Given the description of an element on the screen output the (x, y) to click on. 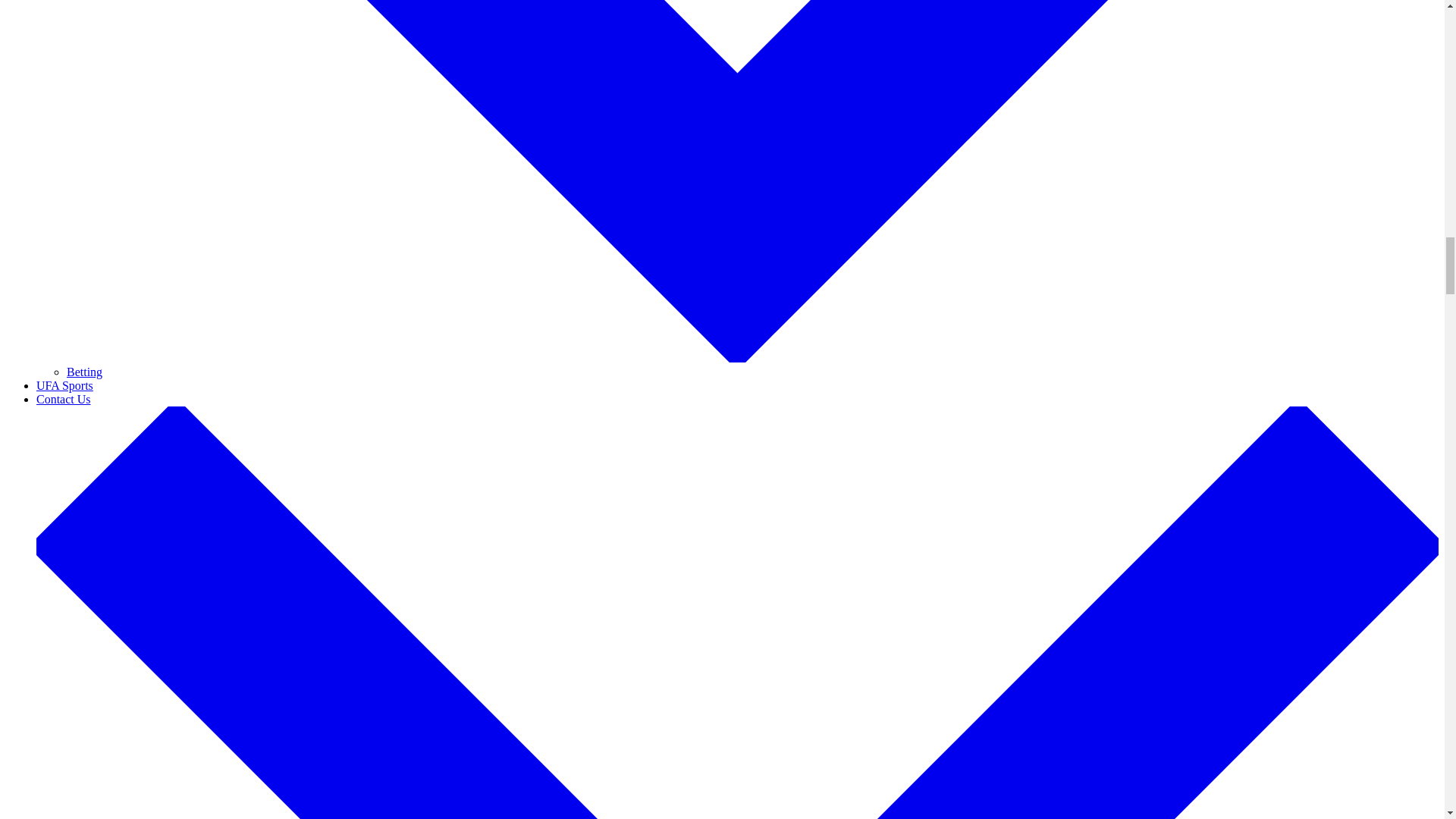
UFA Sports (64, 385)
Betting (83, 371)
